Given the description of an element on the screen output the (x, y) to click on. 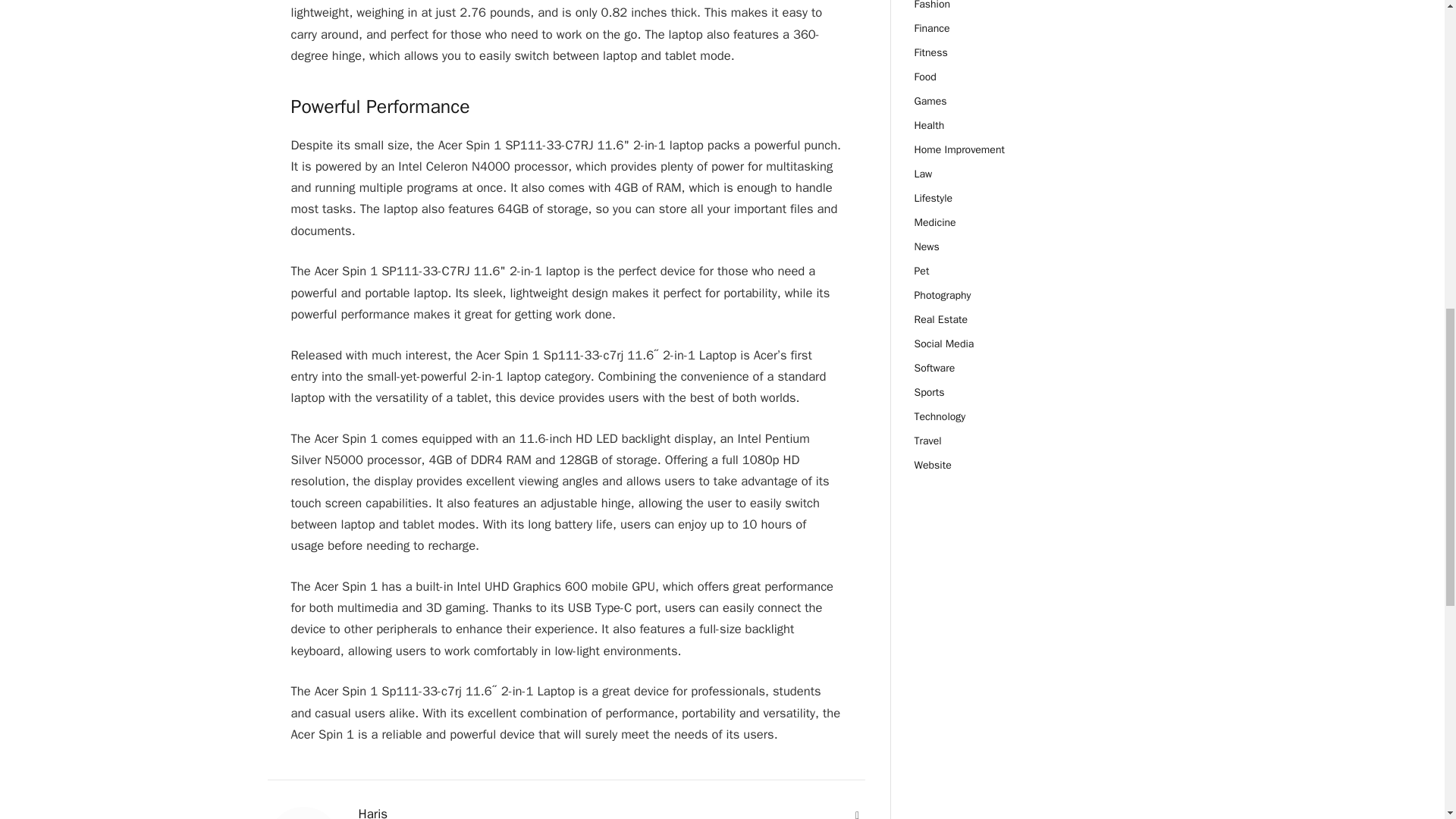
Haris (372, 812)
Website (856, 813)
Posts by Haris (372, 812)
Website (856, 813)
